Given the description of an element on the screen output the (x, y) to click on. 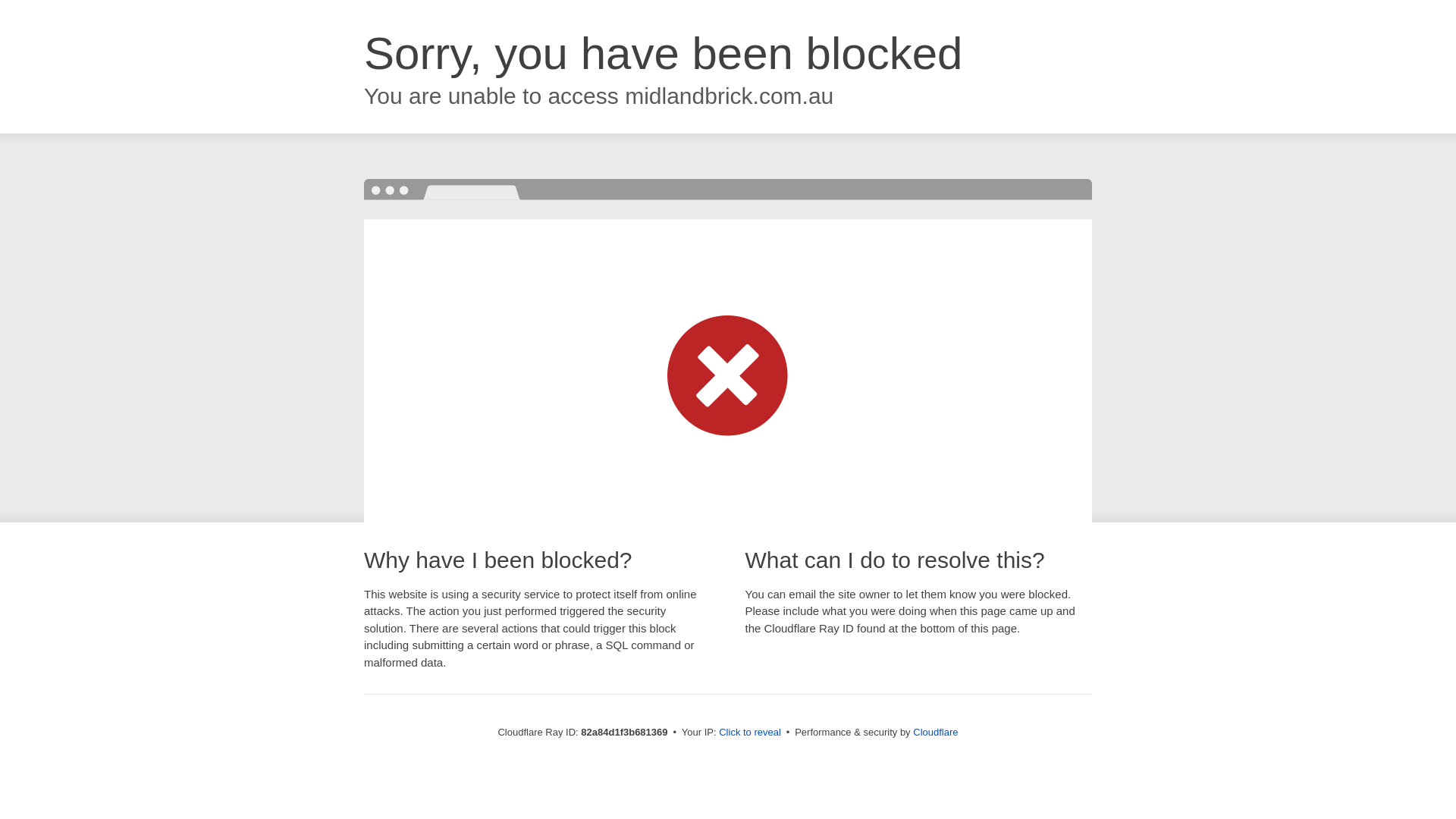
Cloudflare Element type: text (935, 731)
Click to reveal Element type: text (749, 732)
